Given the description of an element on the screen output the (x, y) to click on. 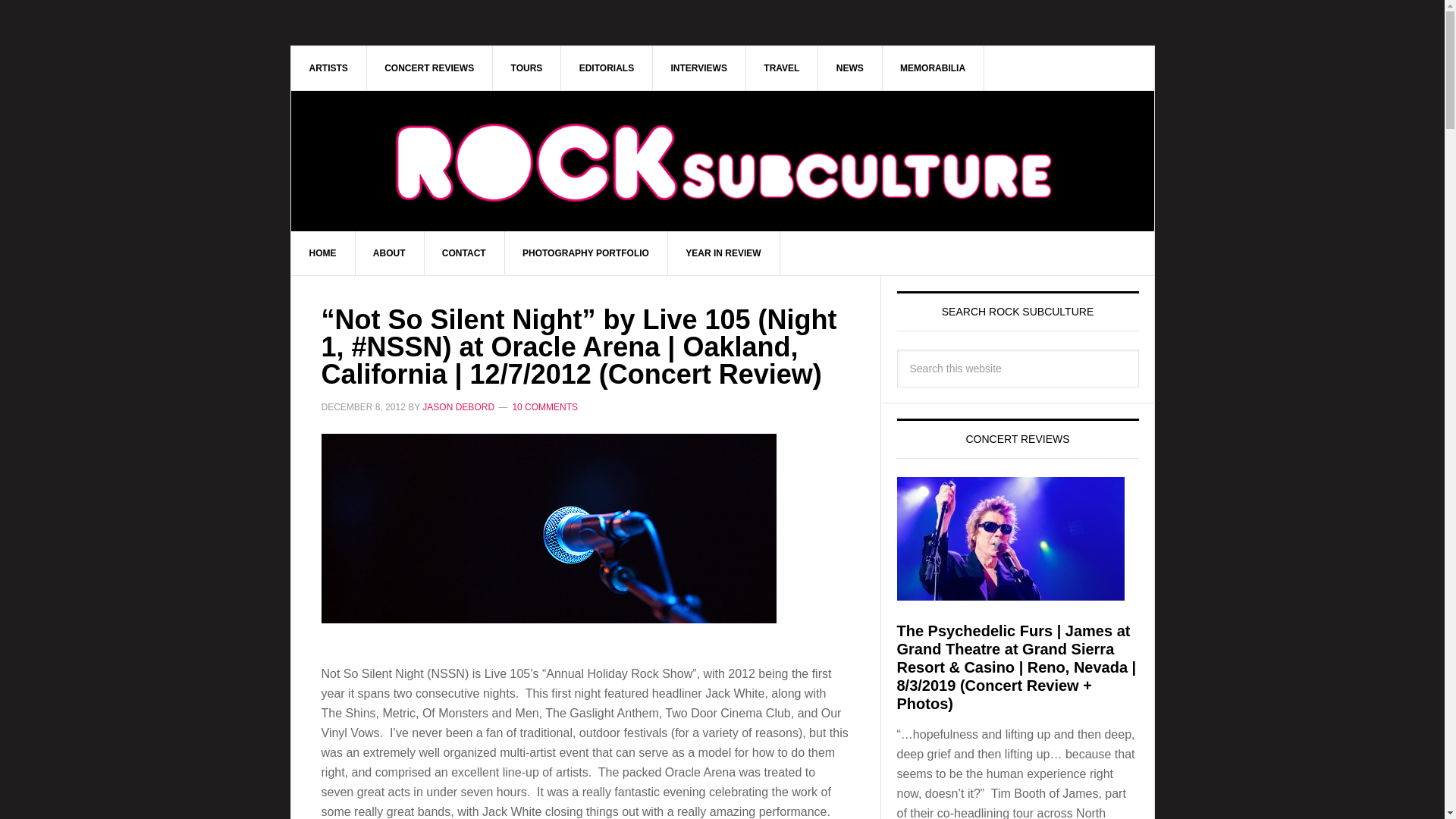
Jason DeBord's Rock Subculture Journal (722, 138)
ARTISTS (328, 67)
MEMORABILIA (933, 67)
10 COMMENTS (545, 407)
YEAR IN REVIEW (722, 252)
NEWS (850, 67)
TRAVEL (781, 67)
TOURS (527, 67)
Jason DeBord's Rock Subculture Journal (722, 161)
PHOTOGRAPHY PORTFOLIO (585, 252)
